Given the description of an element on the screen output the (x, y) to click on. 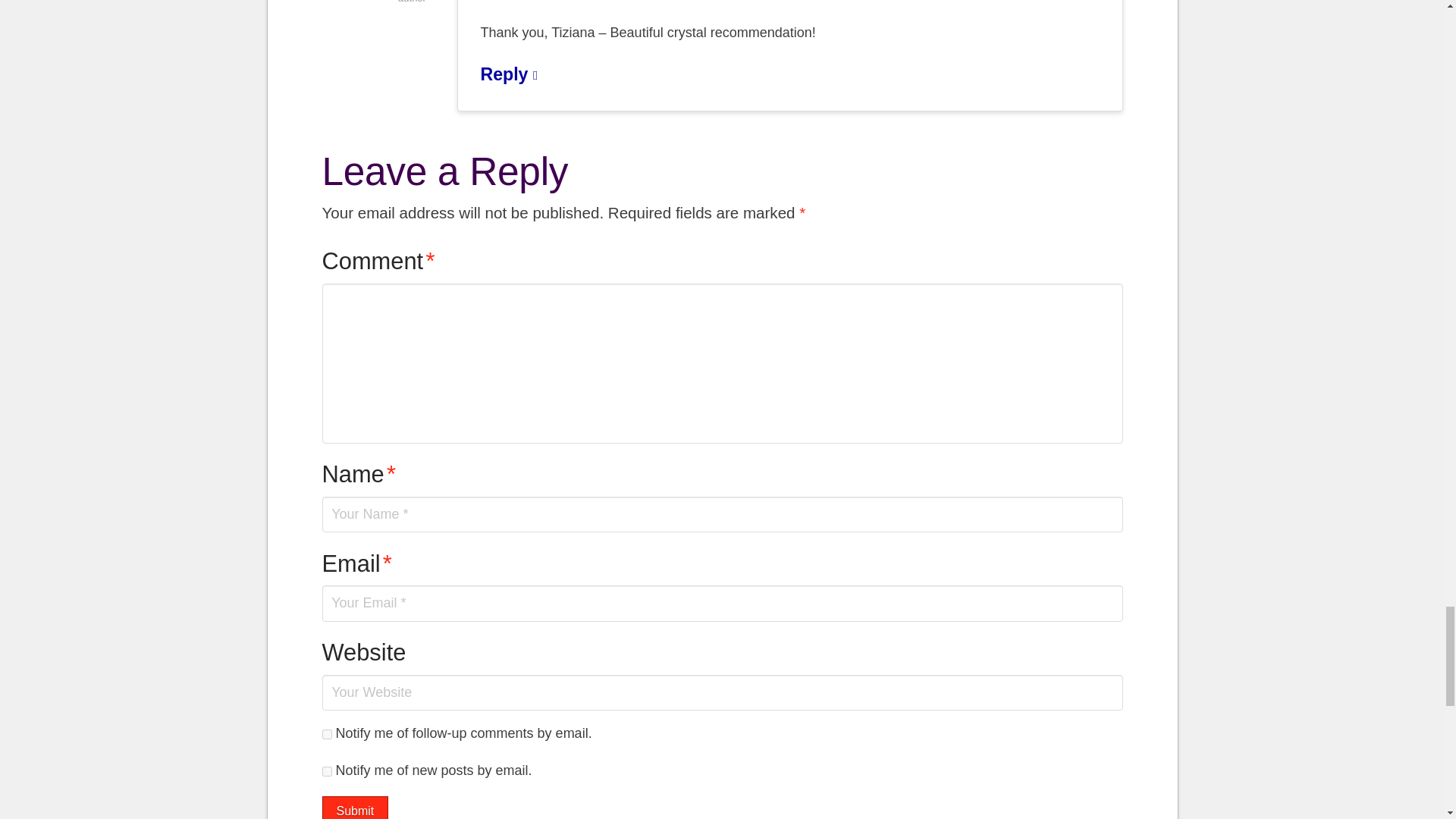
Submit (354, 807)
subscribe (326, 771)
subscribe (326, 734)
